Given the description of an element on the screen output the (x, y) to click on. 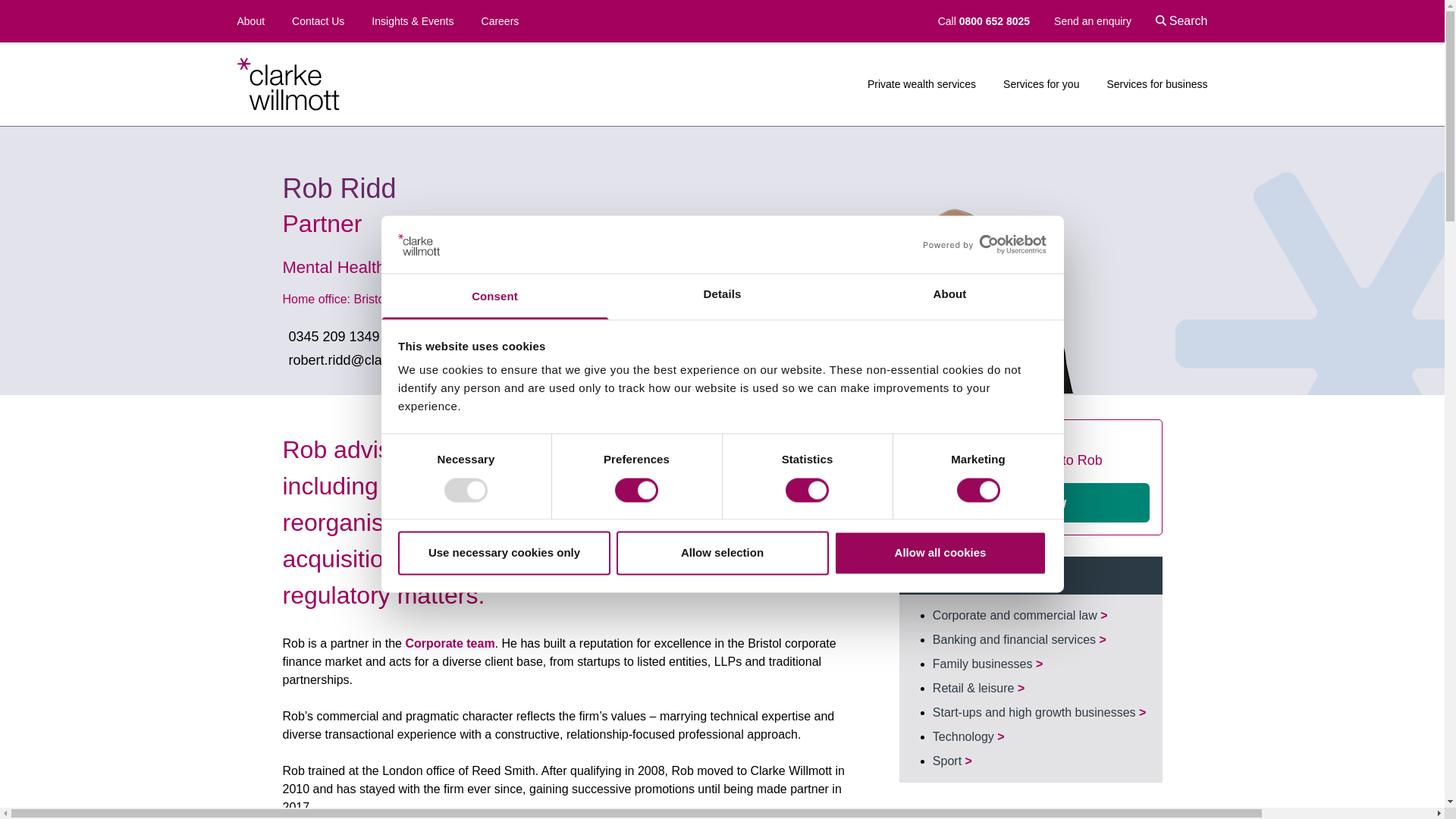
Allow selection (721, 553)
Give us a call on 0345 209 1349 (330, 336)
Allow all cookies (940, 553)
Consent (494, 297)
About (948, 297)
Details (721, 297)
About (249, 21)
Use necessary cookies only (503, 553)
